Given the description of an element on the screen output the (x, y) to click on. 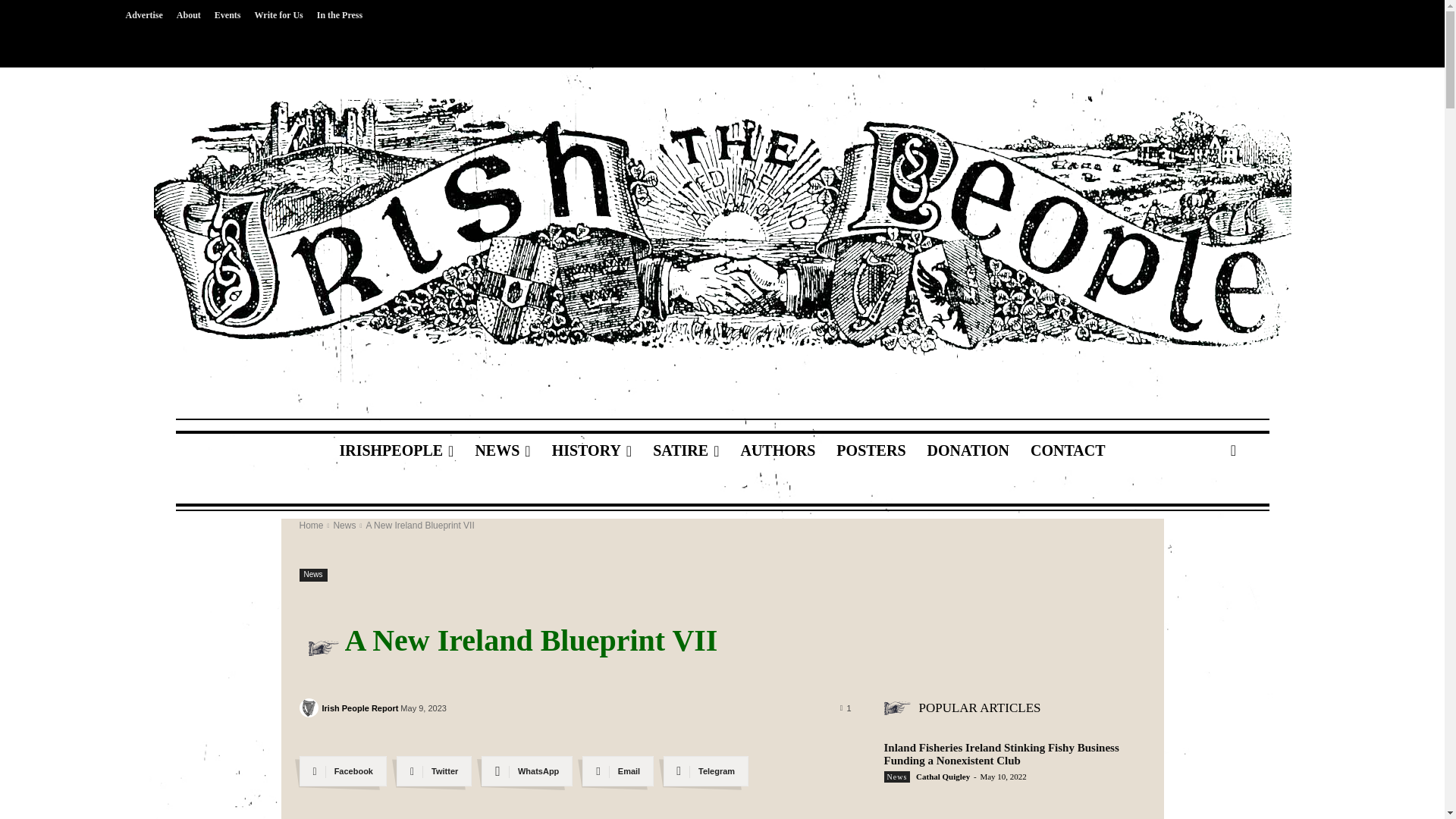
Events (227, 15)
Advertise (142, 15)
IRISHPEOPLE (396, 450)
In the Press (339, 15)
About (189, 15)
Write for Us (278, 15)
